Given the description of an element on the screen output the (x, y) to click on. 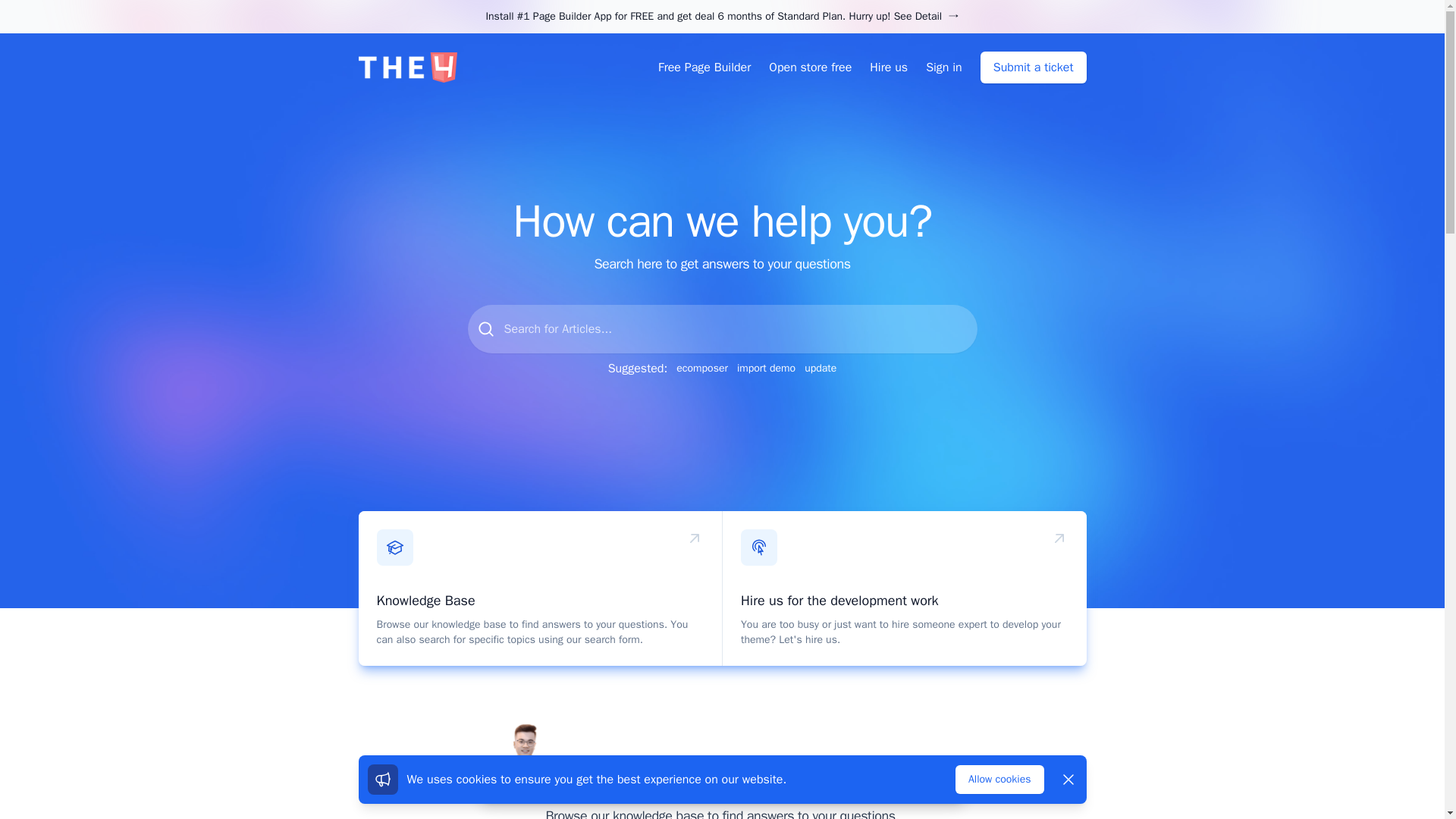
import demo (765, 368)
Open store free (809, 67)
Free Page Builder (704, 67)
Hire us for the development work (840, 600)
Submit a ticket (1032, 67)
Knowledge Base (424, 600)
The4 Support System (407, 67)
Hire us (888, 67)
update (820, 368)
Sign in (944, 67)
ecomposer (702, 368)
